Given the description of an element on the screen output the (x, y) to click on. 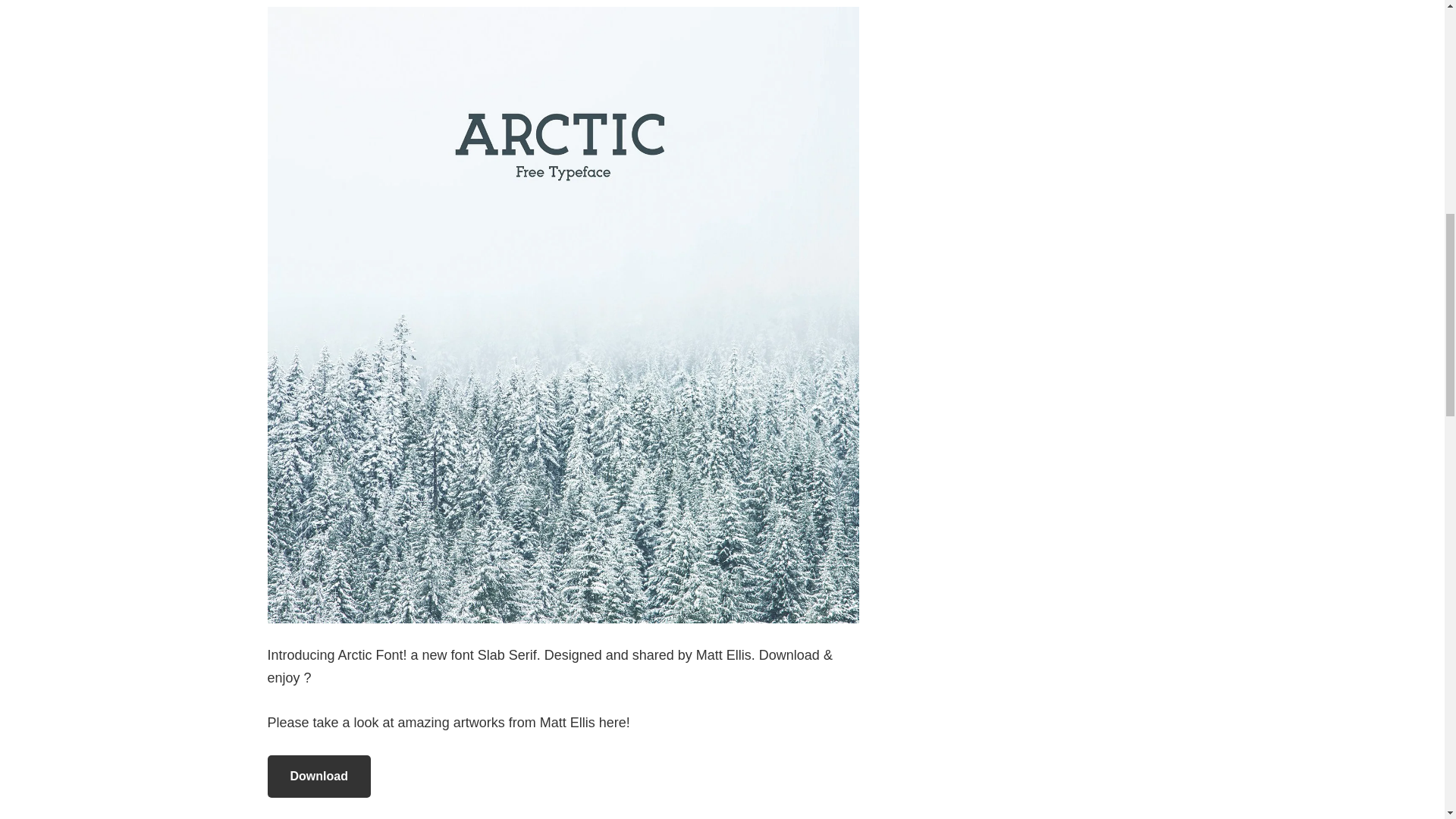
Download (317, 776)
